Given the description of an element on the screen output the (x, y) to click on. 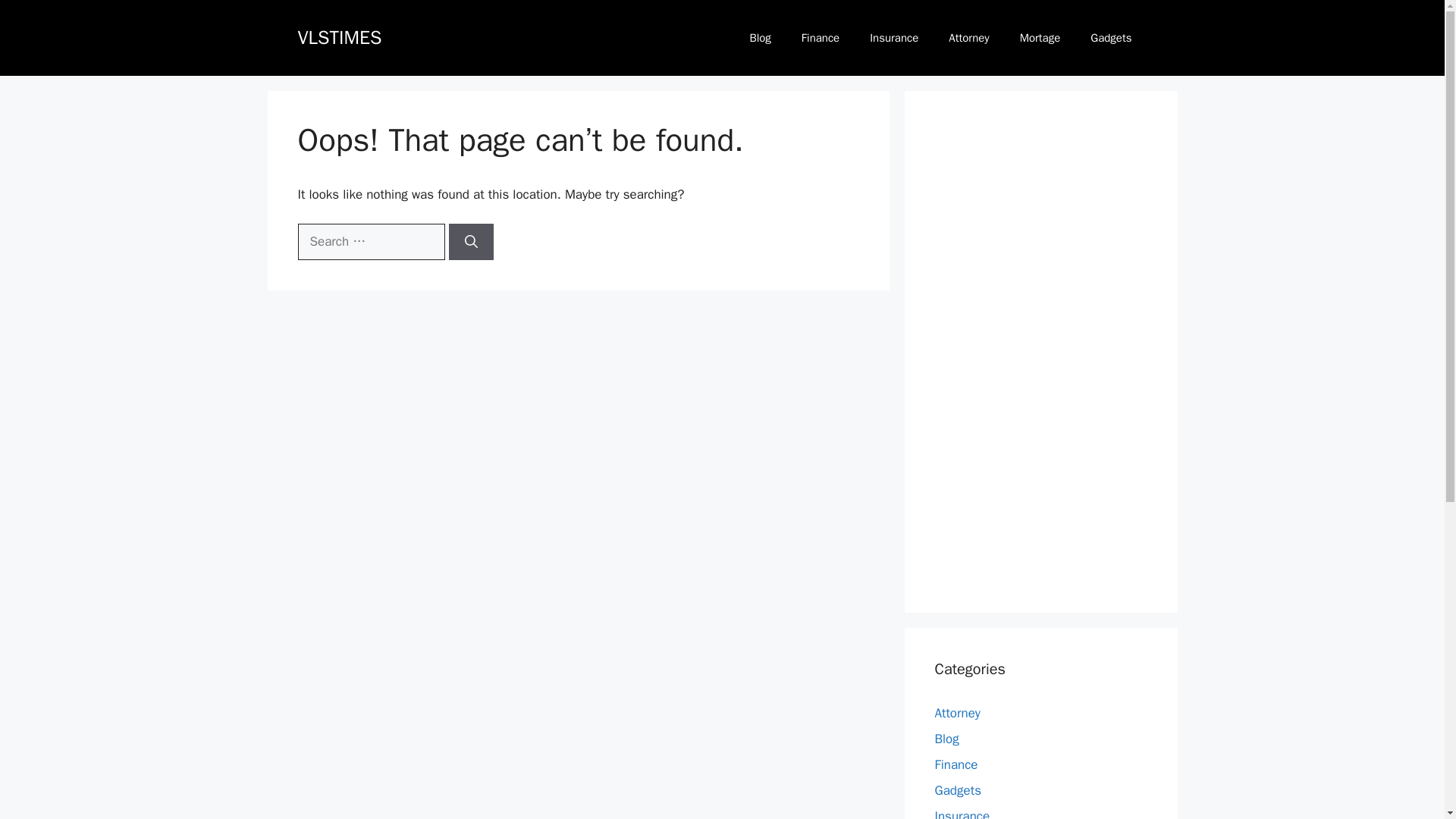
Attorney (956, 713)
Finance (820, 37)
Blog (946, 738)
Search for: (370, 241)
Finance (955, 764)
VLSTIMES (339, 37)
Gadgets (1111, 37)
Gadgets (956, 790)
Insurance (962, 813)
Insurance (893, 37)
Mortage (1039, 37)
Attorney (968, 37)
Blog (759, 37)
